Given the description of an element on the screen output the (x, y) to click on. 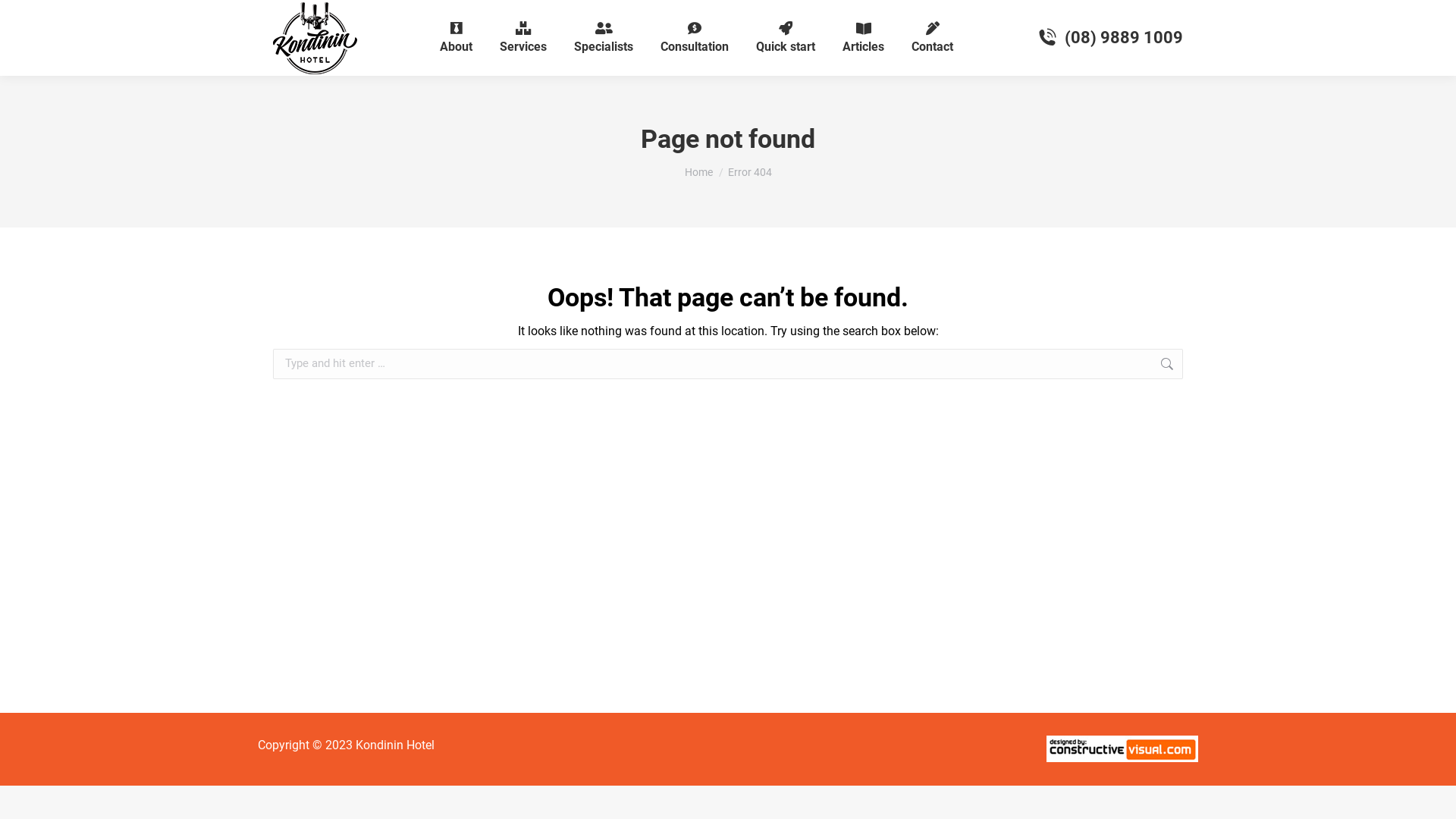
Go! Element type: text (1206, 365)
Contact Element type: text (932, 37)
Specialists Element type: text (603, 37)
Consultation Element type: text (694, 37)
Home Element type: text (698, 172)
Services Element type: text (522, 37)
About Element type: text (455, 37)
(08) 9889 1009 Element type: text (1109, 37)
Quick start Element type: text (785, 37)
Articles Element type: text (863, 37)
